Given the description of an element on the screen output the (x, y) to click on. 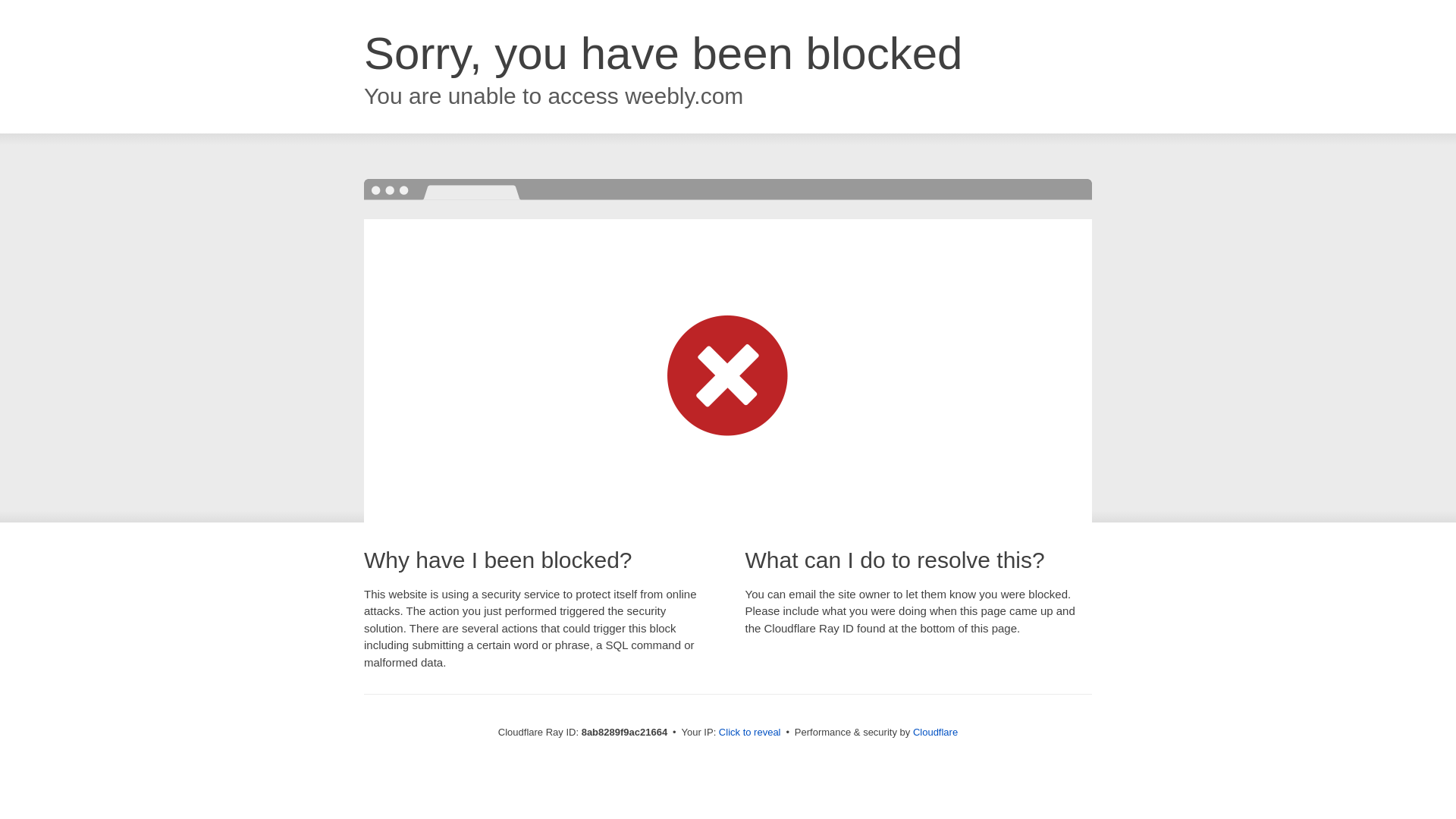
Click to reveal (749, 732)
Cloudflare (935, 731)
